Given the description of an element on the screen output the (x, y) to click on. 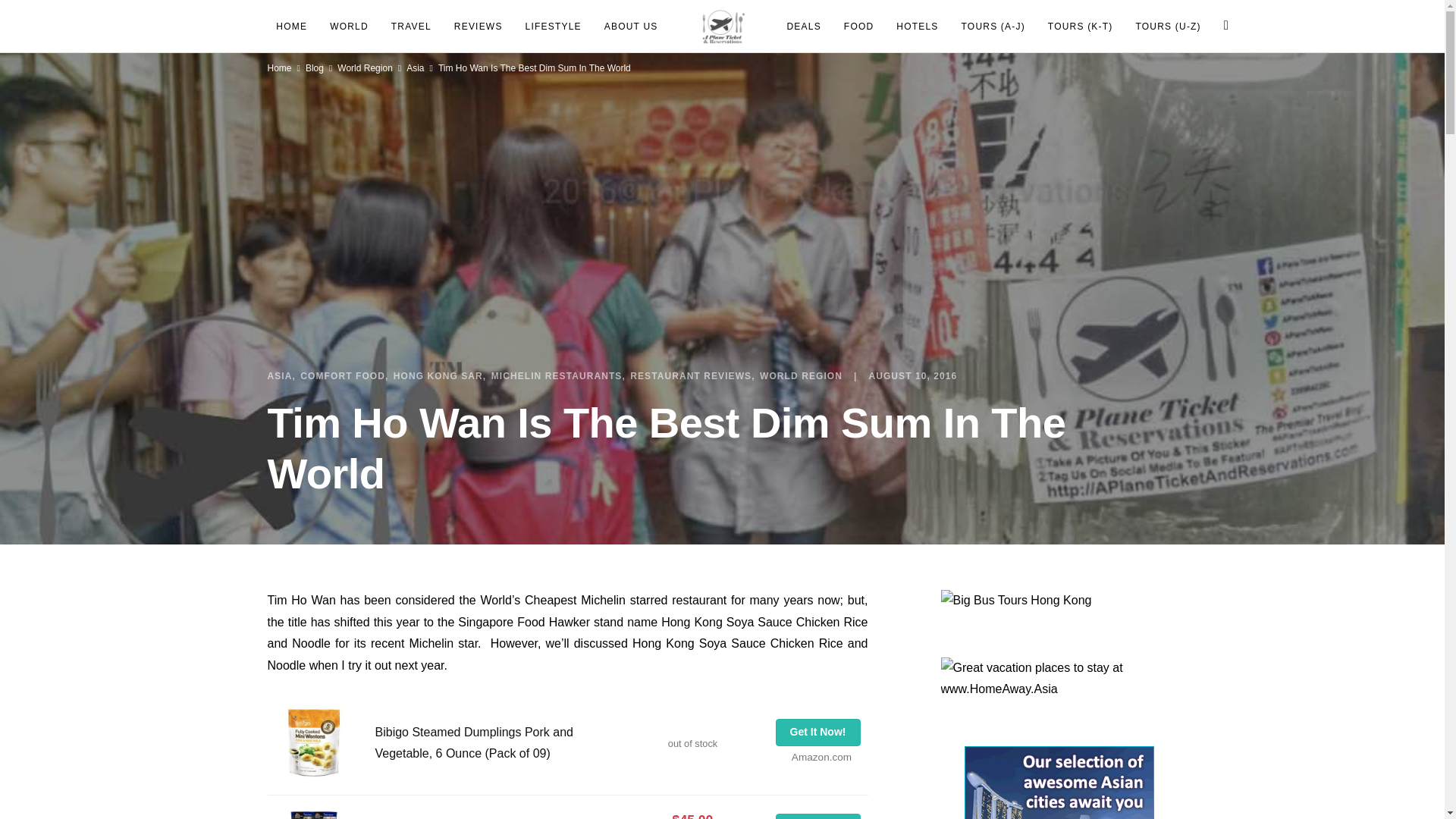
Comfort Food (343, 376)
WORLD (349, 26)
Hong Kong SAR (439, 376)
Last updated on August 12, 2024 11:14 AM (692, 743)
Restaurant Reviews (692, 376)
Asia (280, 376)
HOME (291, 26)
Michelin Restaurants (559, 376)
World Region (801, 376)
